Given the description of an element on the screen output the (x, y) to click on. 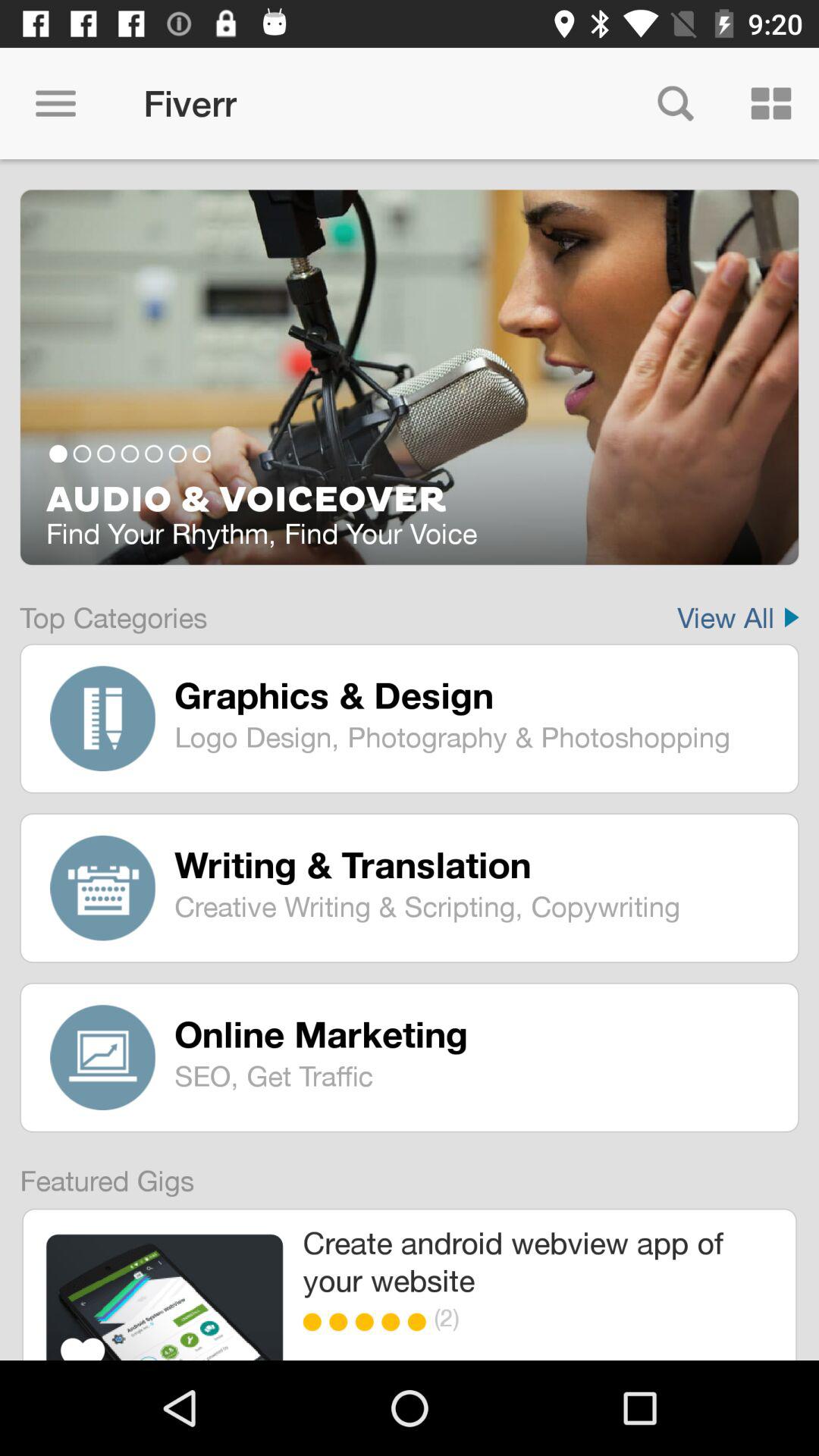
launch the item above top categories icon (409, 465)
